Given the description of an element on the screen output the (x, y) to click on. 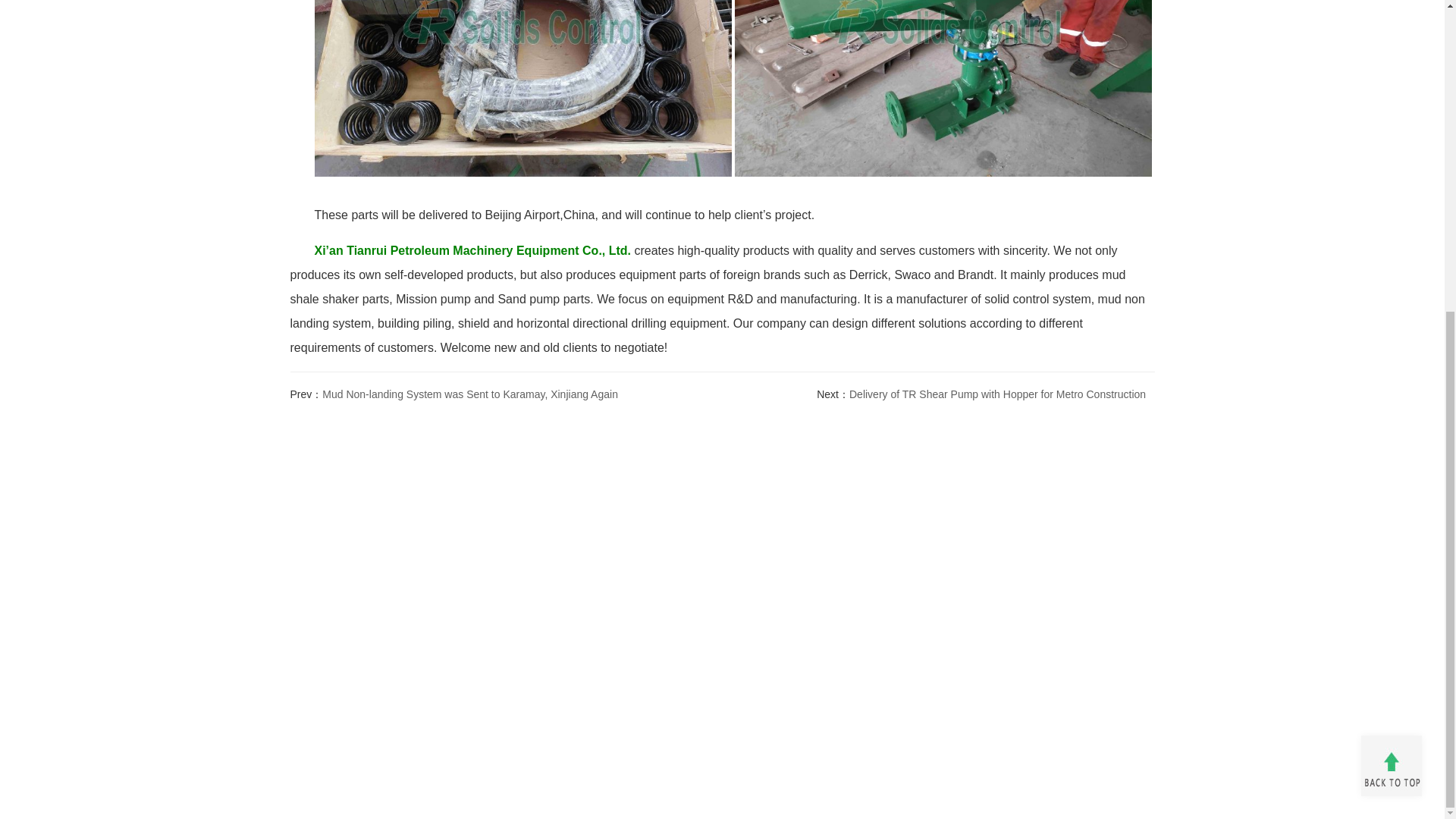
Mud Non-landing System was Sent to Karamay, Xinjiang Again (469, 394)
TRSLH100 mud hopper (943, 95)
Delivery of TR Shear Pump with Hopper for Metro Construction (996, 394)
